Given the description of an element on the screen output the (x, y) to click on. 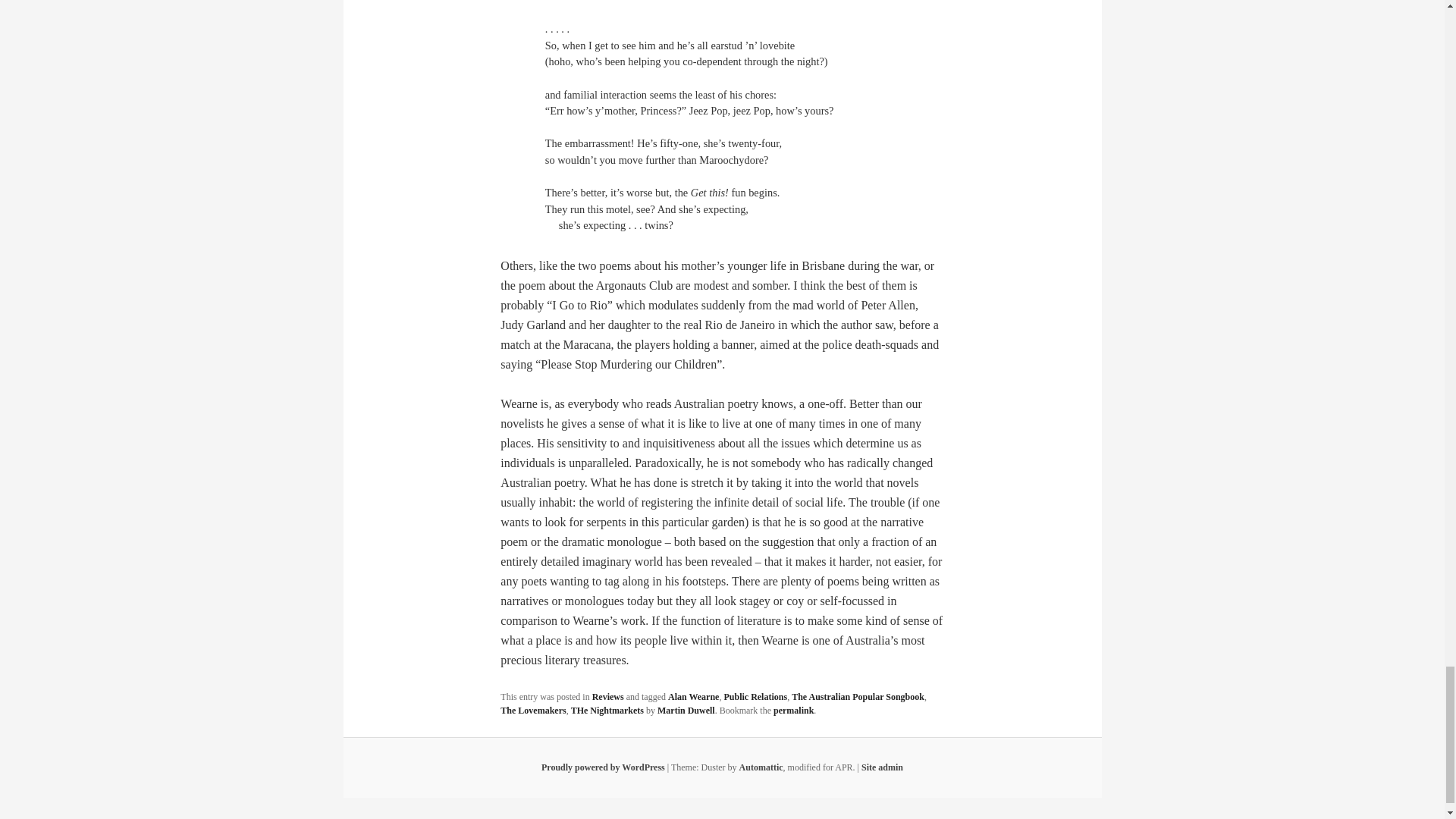
permalink (793, 710)
Site admin (881, 767)
THe Nightmarkets (606, 710)
Reviews (608, 696)
The Lovemakers (533, 710)
Martin Duwell (686, 710)
Proudly powered by WordPress (603, 767)
Public Relations (755, 696)
Automattic (761, 767)
The Australian Popular Songbook (858, 696)
Permalink to Alan Wearne: The Australian Popular Songbook (793, 710)
Alan Wearne (693, 696)
